Given the description of an element on the screen output the (x, y) to click on. 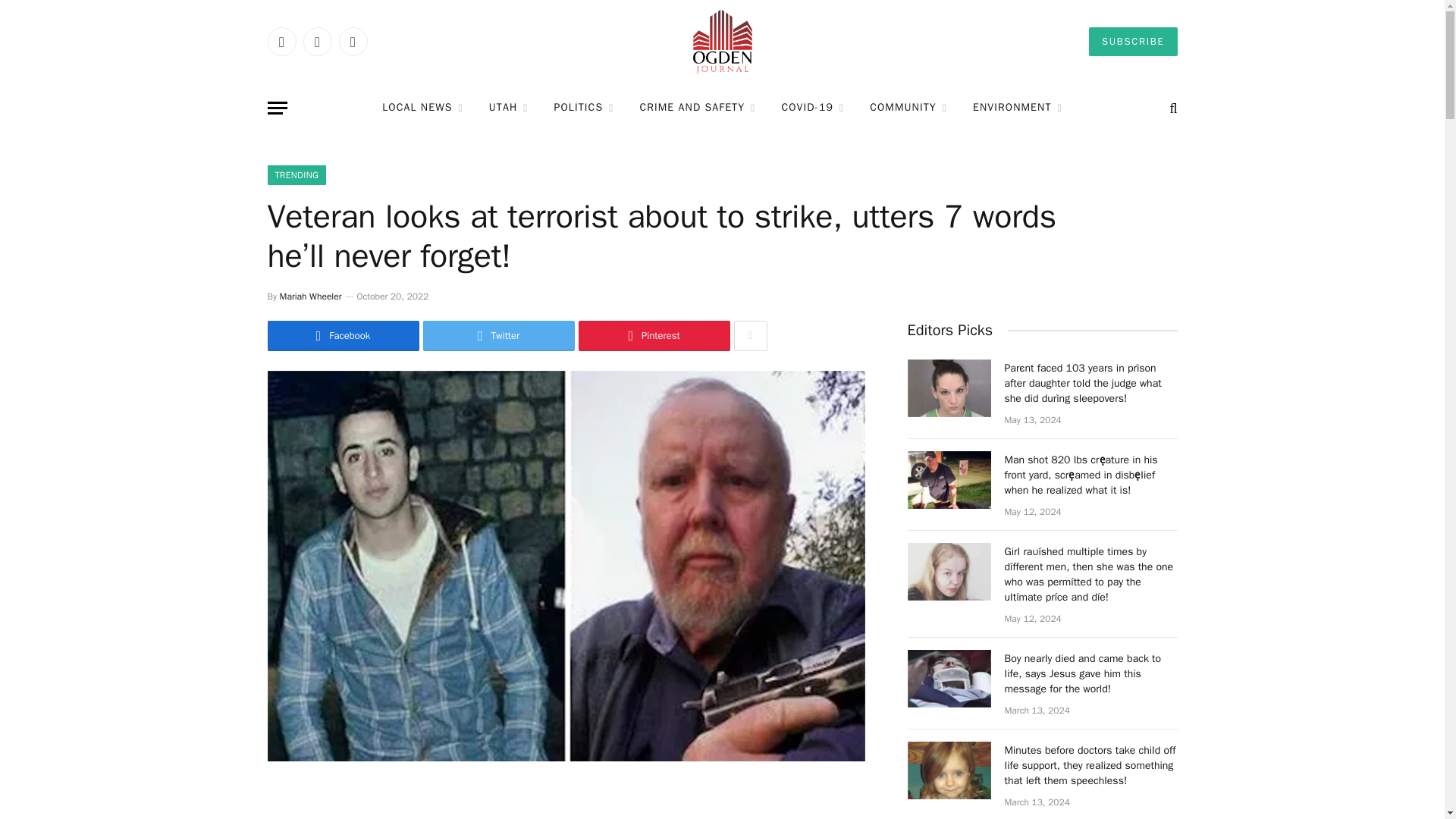
SUBSCRIBE (1132, 41)
Facebook (280, 41)
LOCAL NEWS (422, 107)
UTAH (508, 107)
Instagram (351, 41)
Twitter (316, 41)
Ogden Journal (722, 41)
